Given the description of an element on the screen output the (x, y) to click on. 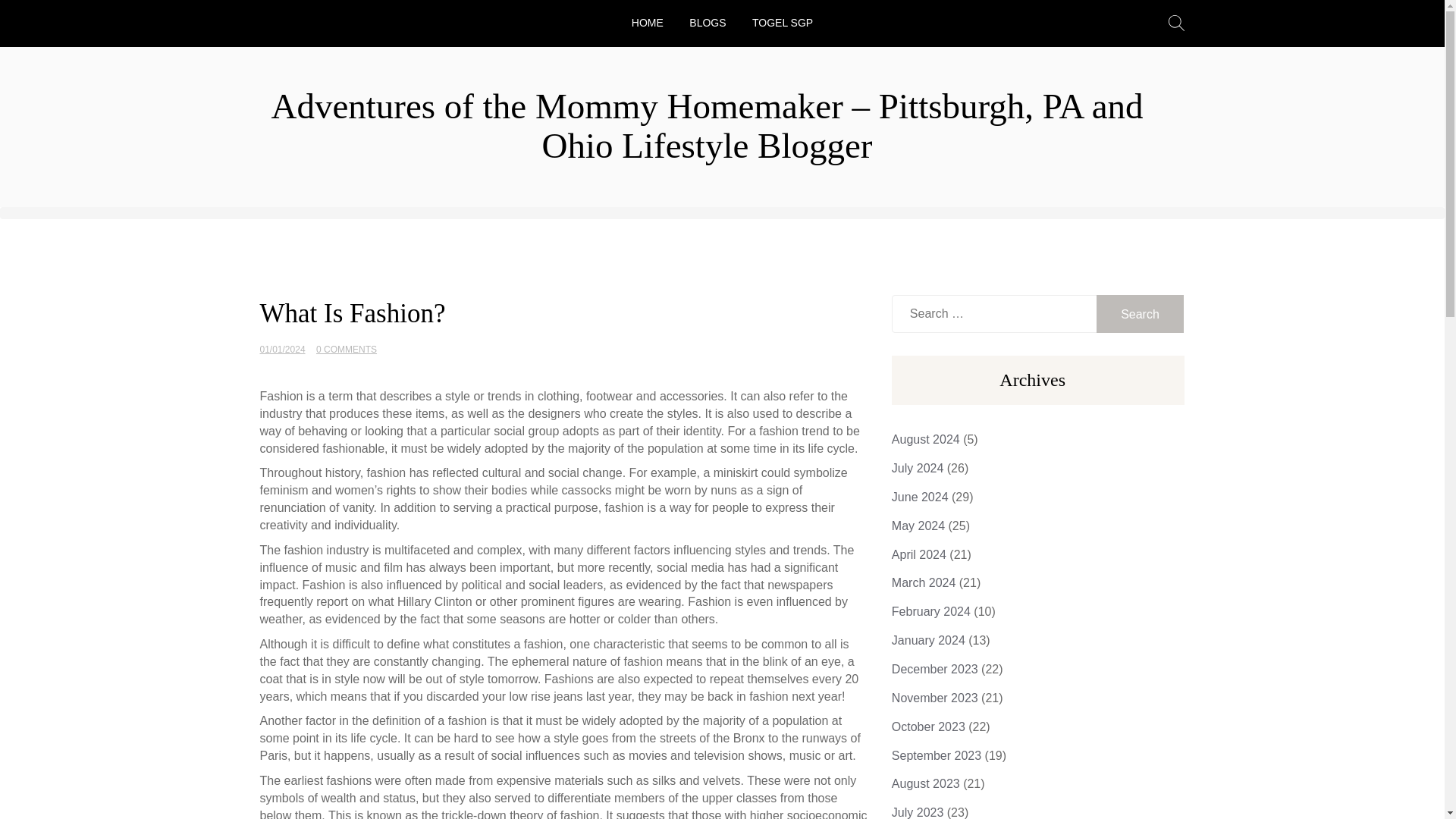
September 2023 (936, 755)
Togel SGP (782, 20)
August 2023 (925, 783)
February 2024 (931, 611)
HOME (647, 20)
0 COMMENTS (346, 348)
Home (647, 20)
Search (1140, 313)
January 2024 (928, 640)
June 2024 (920, 496)
